Given the description of an element on the screen output the (x, y) to click on. 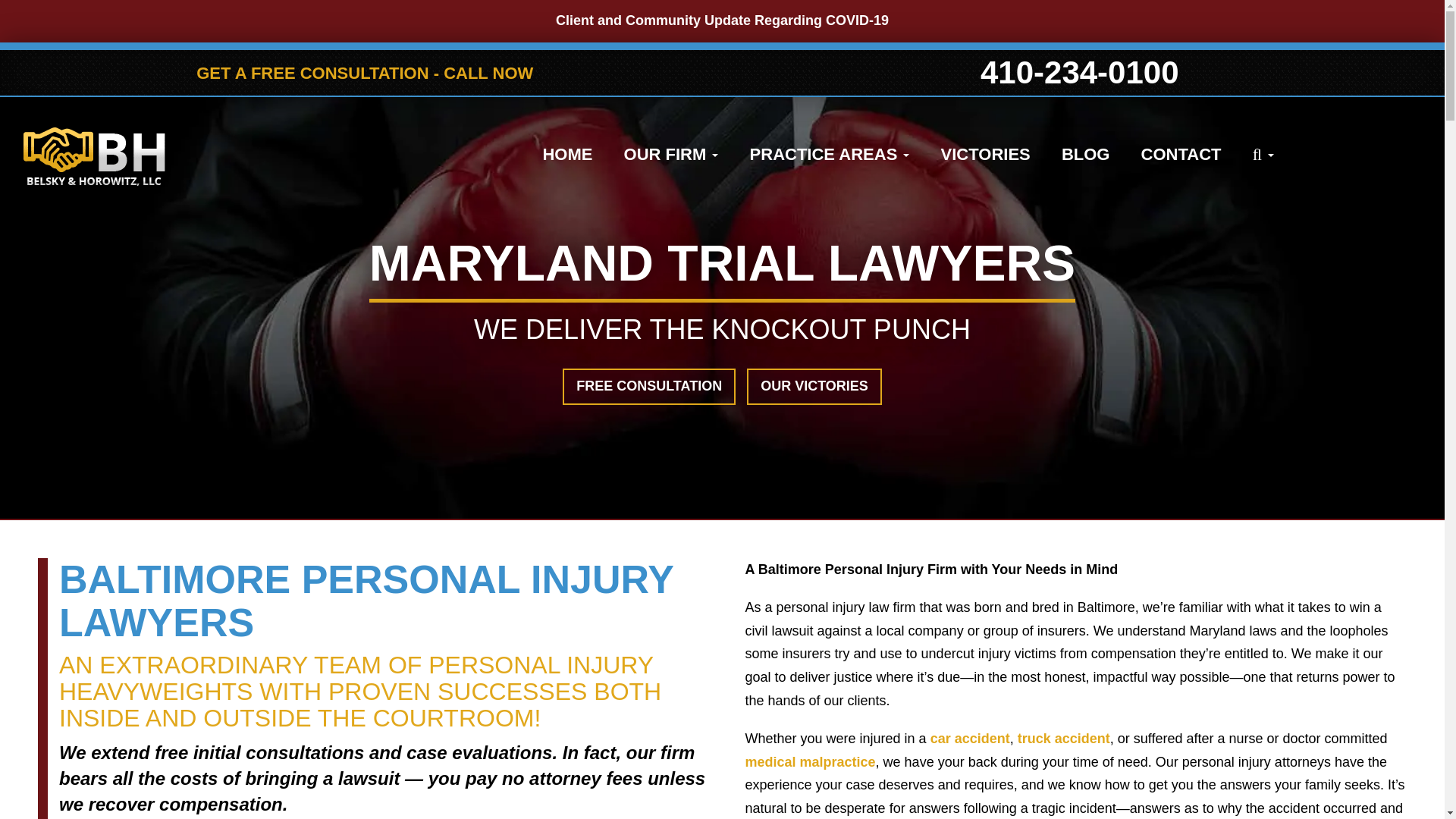
medical malpractice (809, 761)
truck accident (1063, 738)
PRACTICE AREAS (829, 154)
Client and Community Update Regarding COVID-19 (722, 21)
CONTACT (1181, 154)
VICTORIES (985, 154)
OUR FIRM (670, 154)
car accident (970, 738)
BLOG (1086, 154)
FREE CONSULTATION (648, 386)
